Given the description of an element on the screen output the (x, y) to click on. 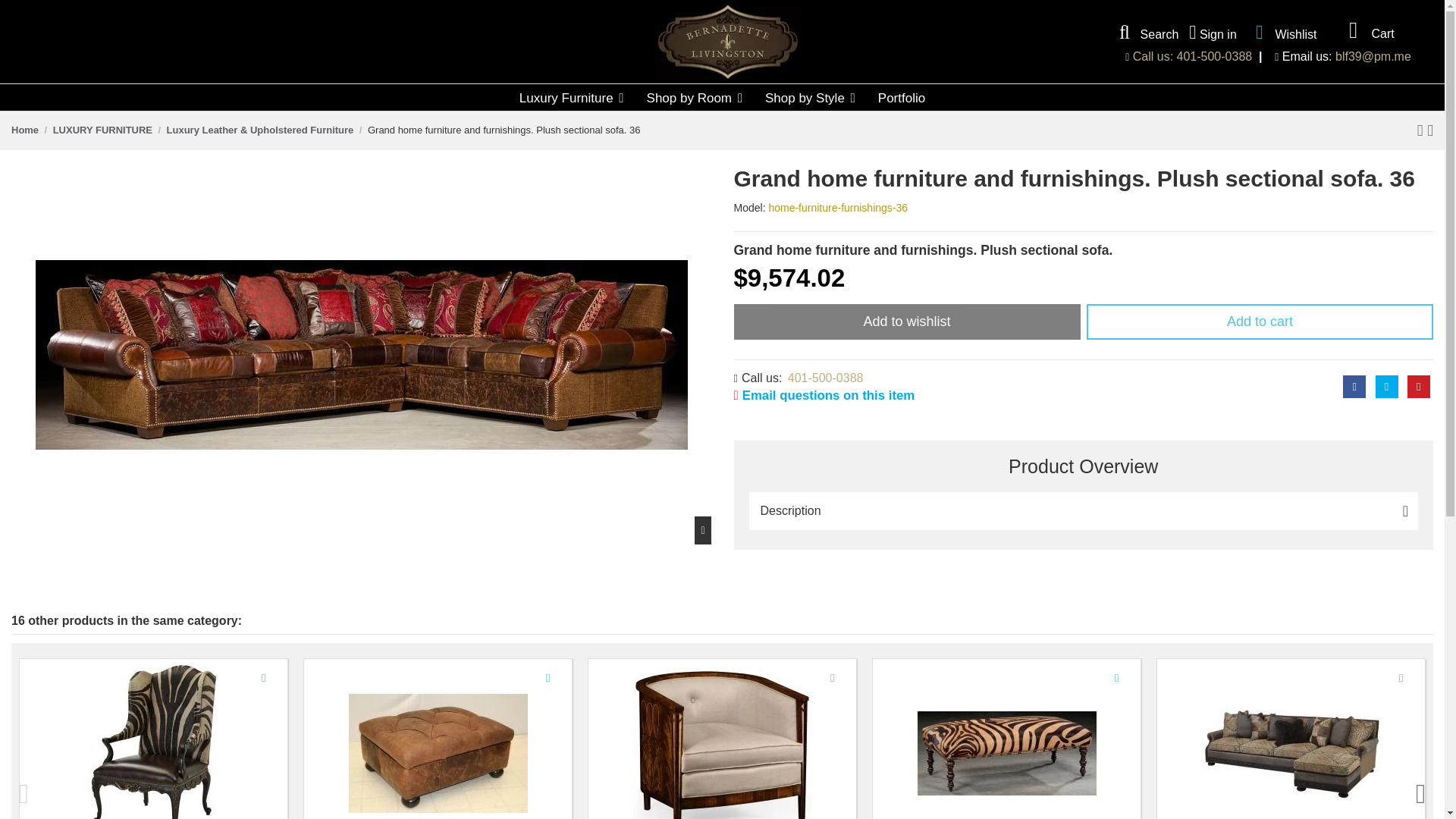
Sign in (1212, 32)
Previous product (1422, 129)
Cart (1366, 29)
Search (1144, 32)
Share (1353, 386)
Tweet (1386, 386)
Wishlist (1282, 32)
Call us: 401-500-0388 (1192, 56)
Next product (1429, 129)
Luxury Furniture (571, 97)
Pinterest (1418, 386)
